Given the description of an element on the screen output the (x, y) to click on. 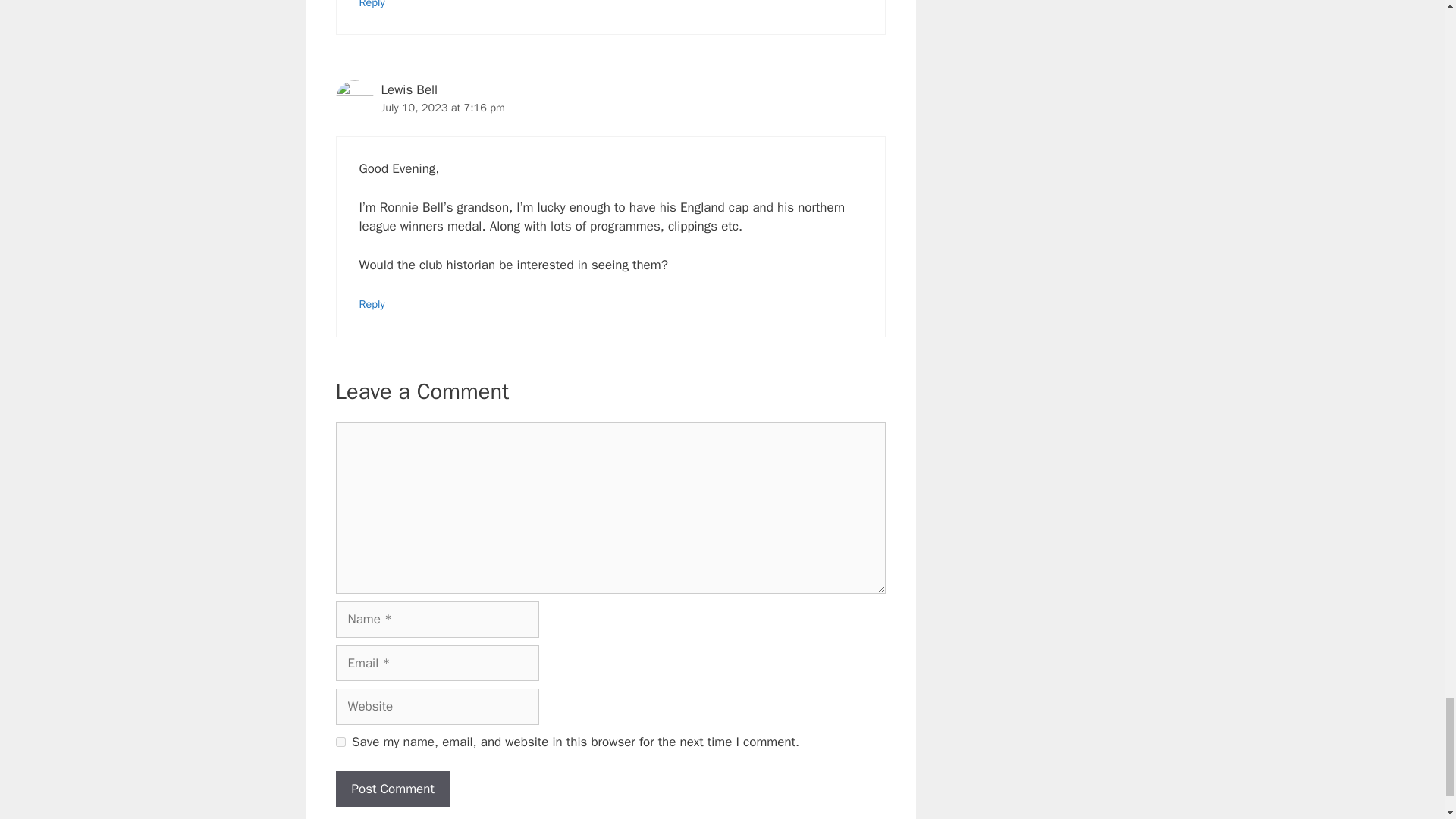
Reply (372, 4)
Post Comment (391, 789)
Reply (372, 304)
Post Comment (391, 789)
July 10, 2023 at 7:16 pm (441, 107)
yes (339, 741)
